Given the description of an element on the screen output the (x, y) to click on. 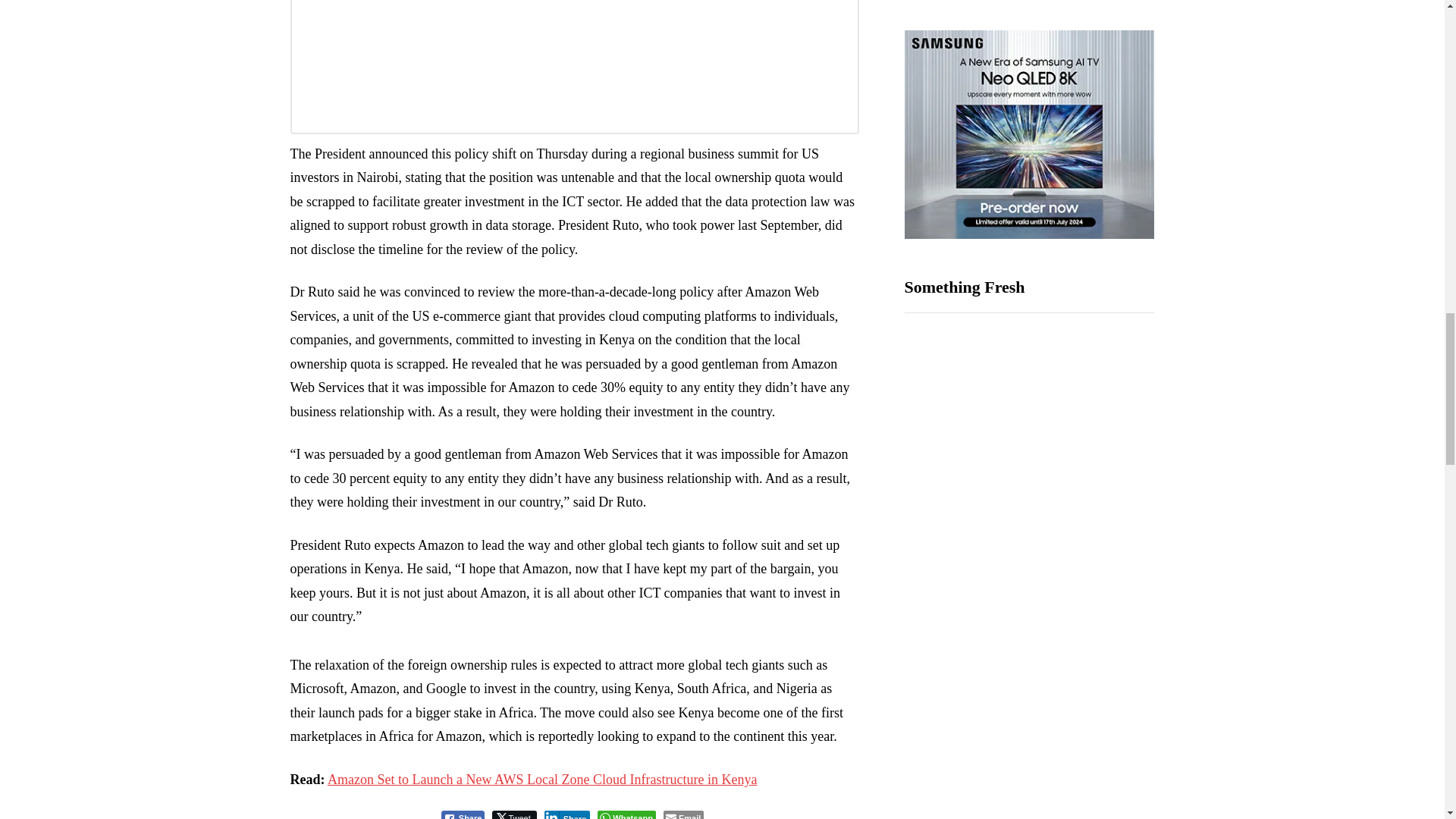
Tweet (513, 814)
Whatsapp (626, 814)
Share (462, 814)
Email (683, 814)
Share (567, 814)
